Given the description of an element on the screen output the (x, y) to click on. 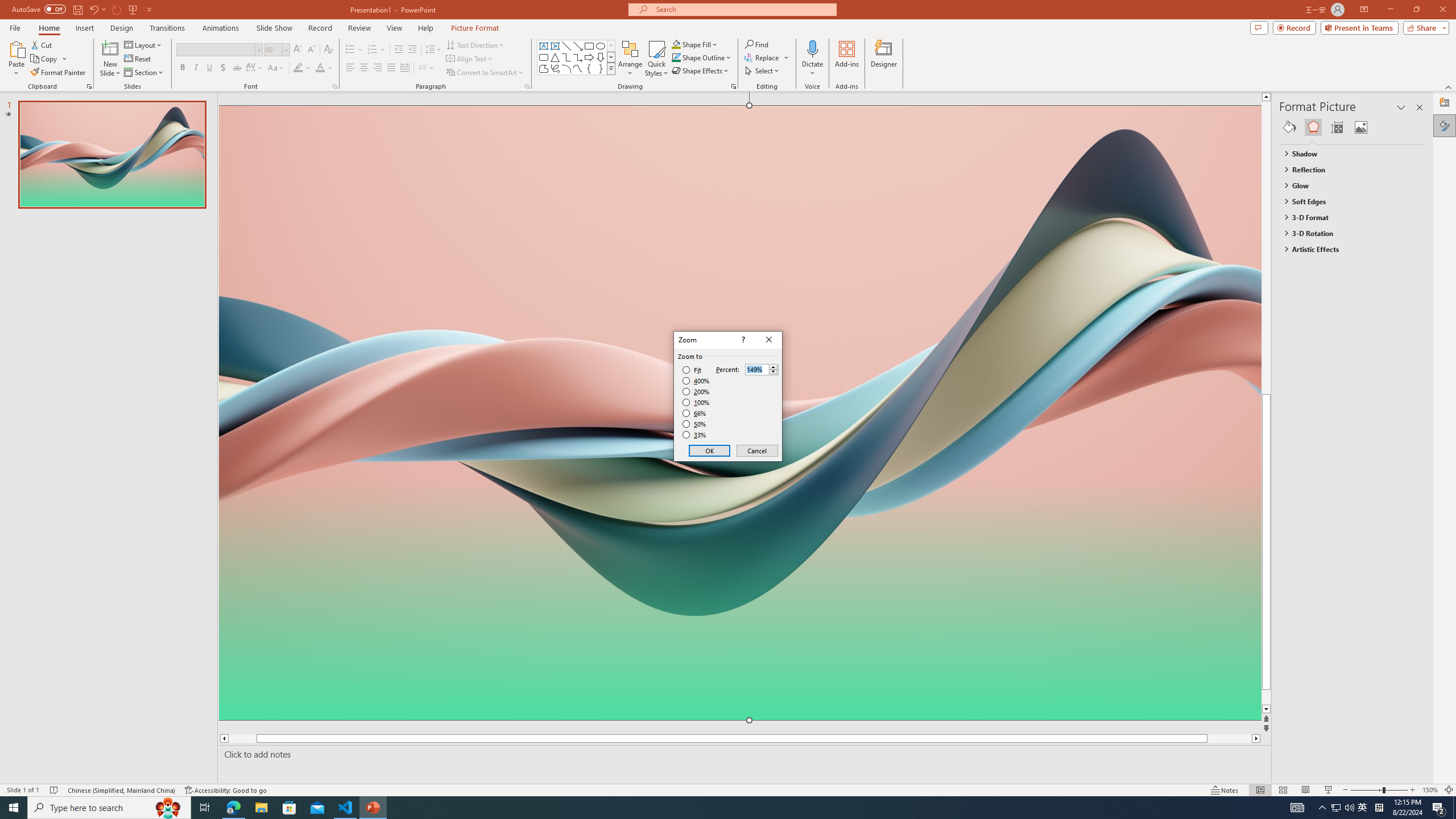
Reflection (1347, 169)
Size & Properties (1336, 126)
